Given the description of an element on the screen output the (x, y) to click on. 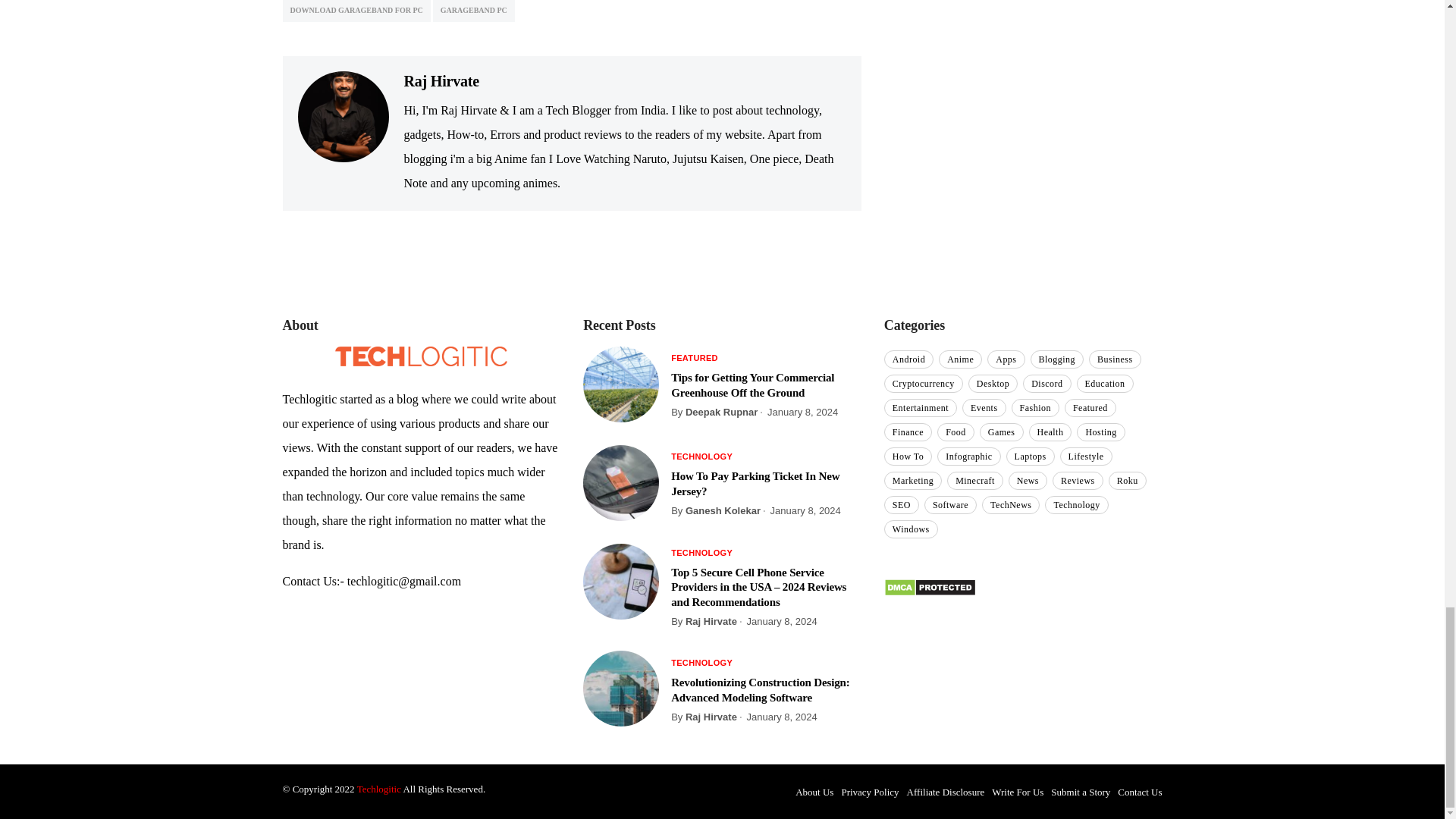
Posts by Raj Hirvate (710, 621)
Tips for Getting Your Commercial Greenhouse Off the Ground 3 (621, 384)
DMCA.com Protection Status (929, 585)
Posts by Ganesh Kolekar (722, 510)
Posts by Raj Hirvate (710, 716)
How To Pay Parking Ticket In New Jersey? 4 (621, 482)
Posts by Deepak Rupnar (721, 411)
